Given the description of an element on the screen output the (x, y) to click on. 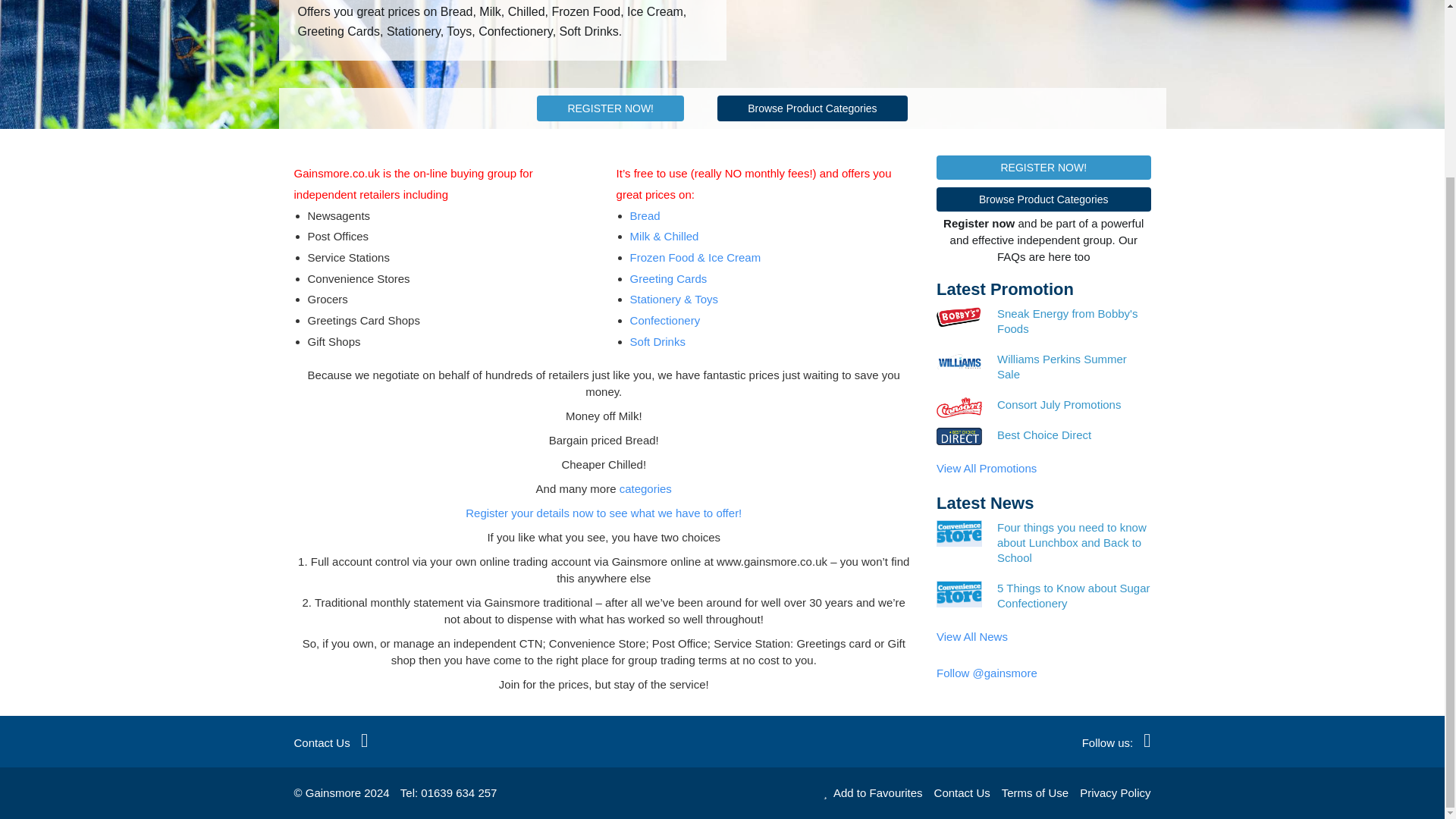
Confectionery (665, 319)
Soft Drinks (657, 341)
Sneak Energy from Bobby's Foods (1074, 321)
Bread (645, 215)
Consort July Promotions (1074, 404)
Best Choice Direct (1074, 435)
REGISTER NOW! (1043, 167)
Register your details now to see what we have to offer! (603, 512)
REGISTER NOW! (610, 108)
Browse Product Categories (812, 108)
categories (645, 488)
Browse Product Categories (1043, 199)
View All Promotions (986, 468)
Greeting Cards (668, 278)
